Given the description of an element on the screen output the (x, y) to click on. 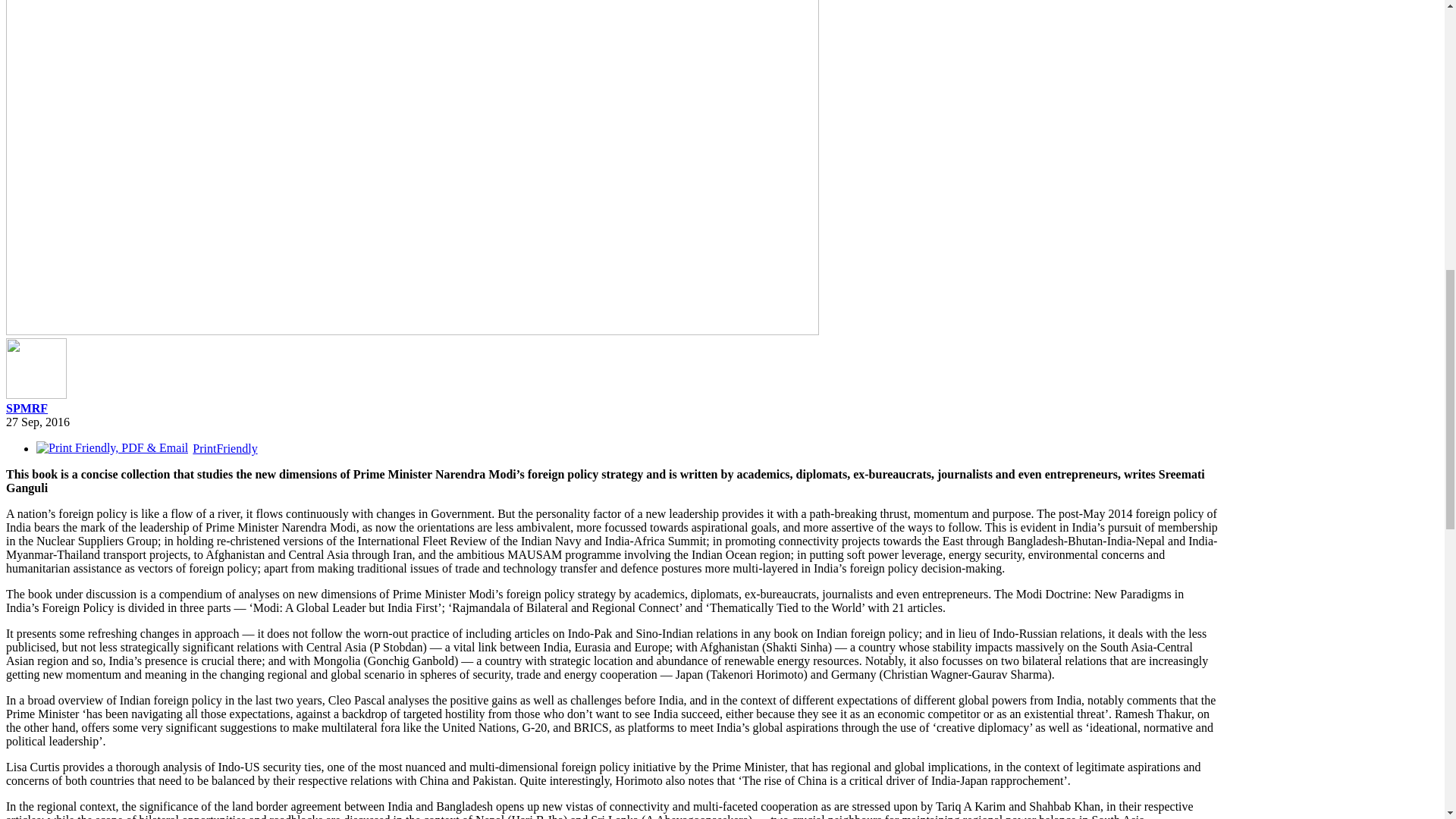
Posts by SPMRF (26, 408)
